Given the description of an element on the screen output the (x, y) to click on. 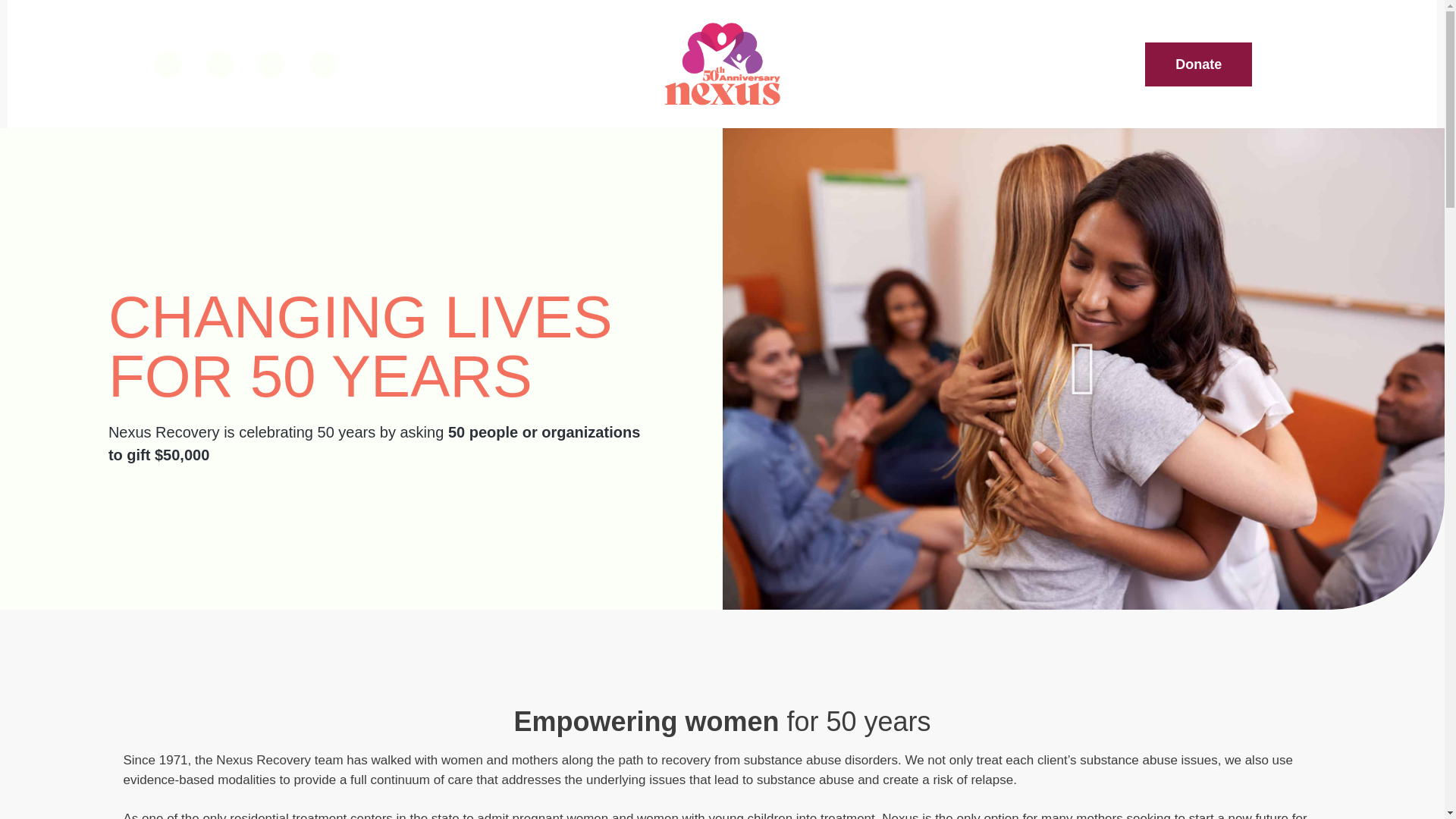
Donate (1198, 64)
